Given the description of an element on the screen output the (x, y) to click on. 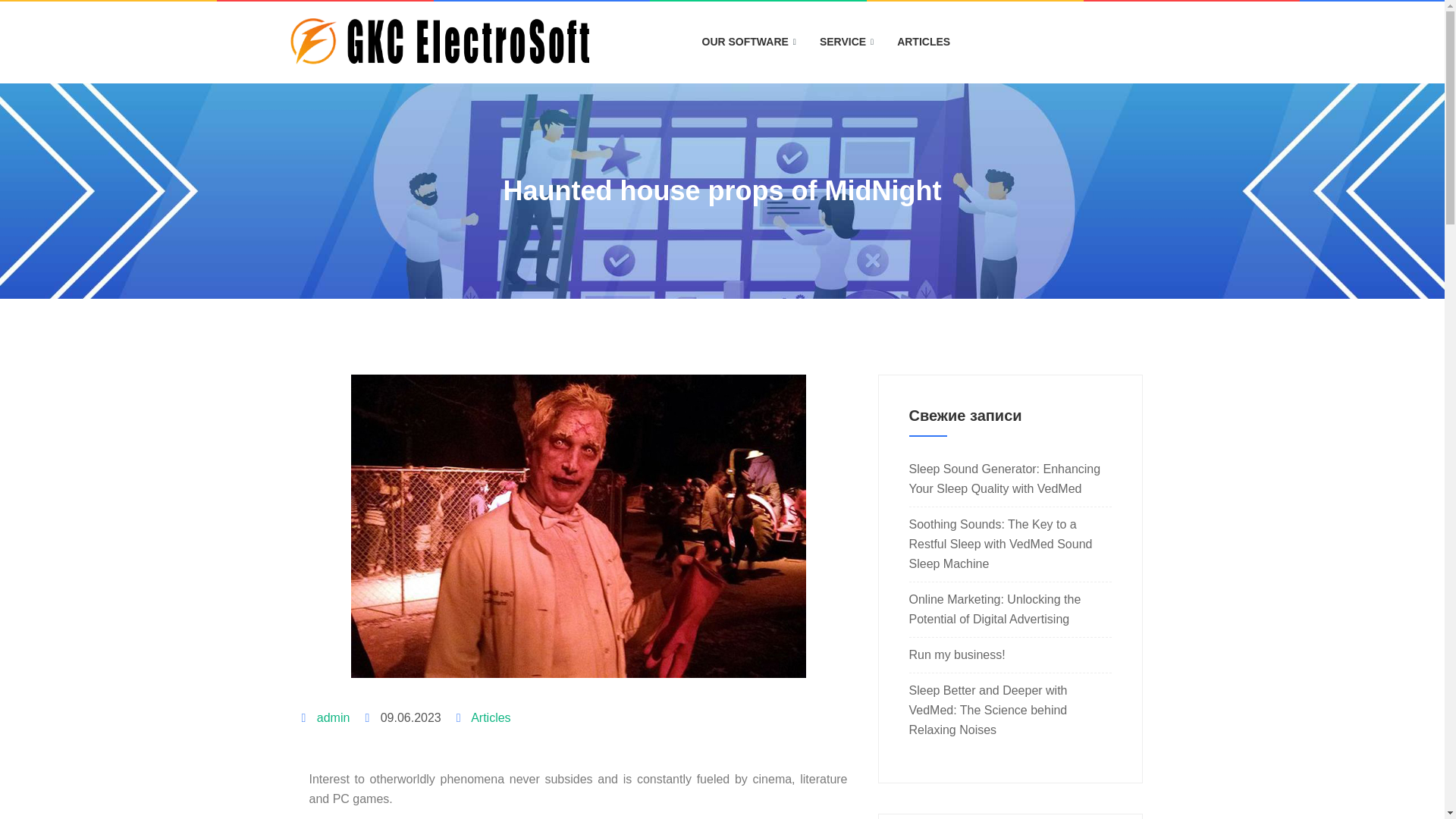
Articles (490, 717)
admin (333, 717)
OUR SOFTWARE (750, 41)
